Given the description of an element on the screen output the (x, y) to click on. 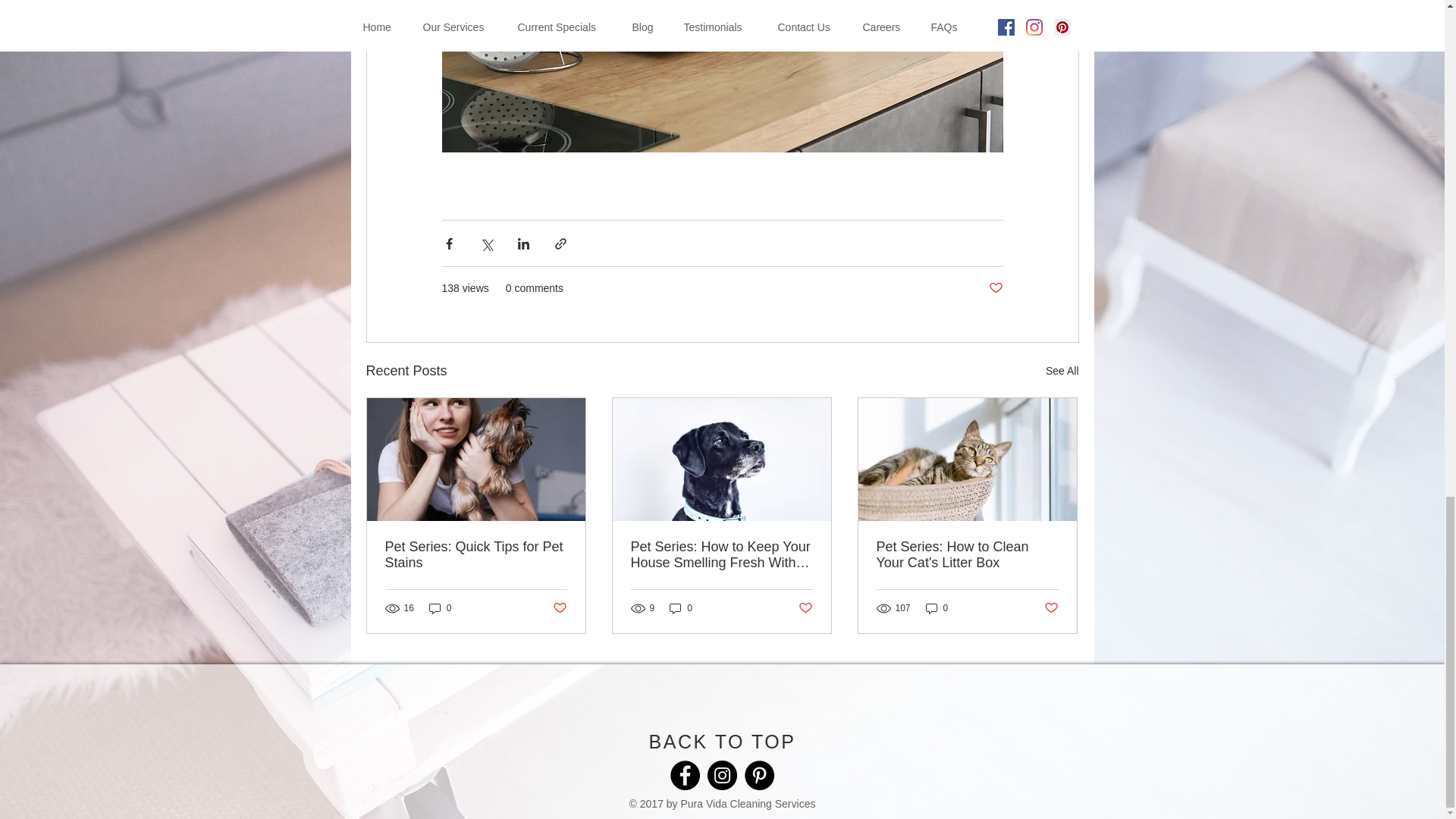
BACK TO TOP (722, 741)
Post not marked as liked (558, 608)
0 (937, 608)
Pet Series: How to Keep Your House Smelling Fresh With Pets (721, 554)
Post not marked as liked (995, 288)
0 (681, 608)
Pet Series: How to Clean Your Cat's Litter Box (967, 554)
Post not marked as liked (1050, 608)
See All (1061, 371)
Post not marked as liked (804, 608)
